Given the description of an element on the screen output the (x, y) to click on. 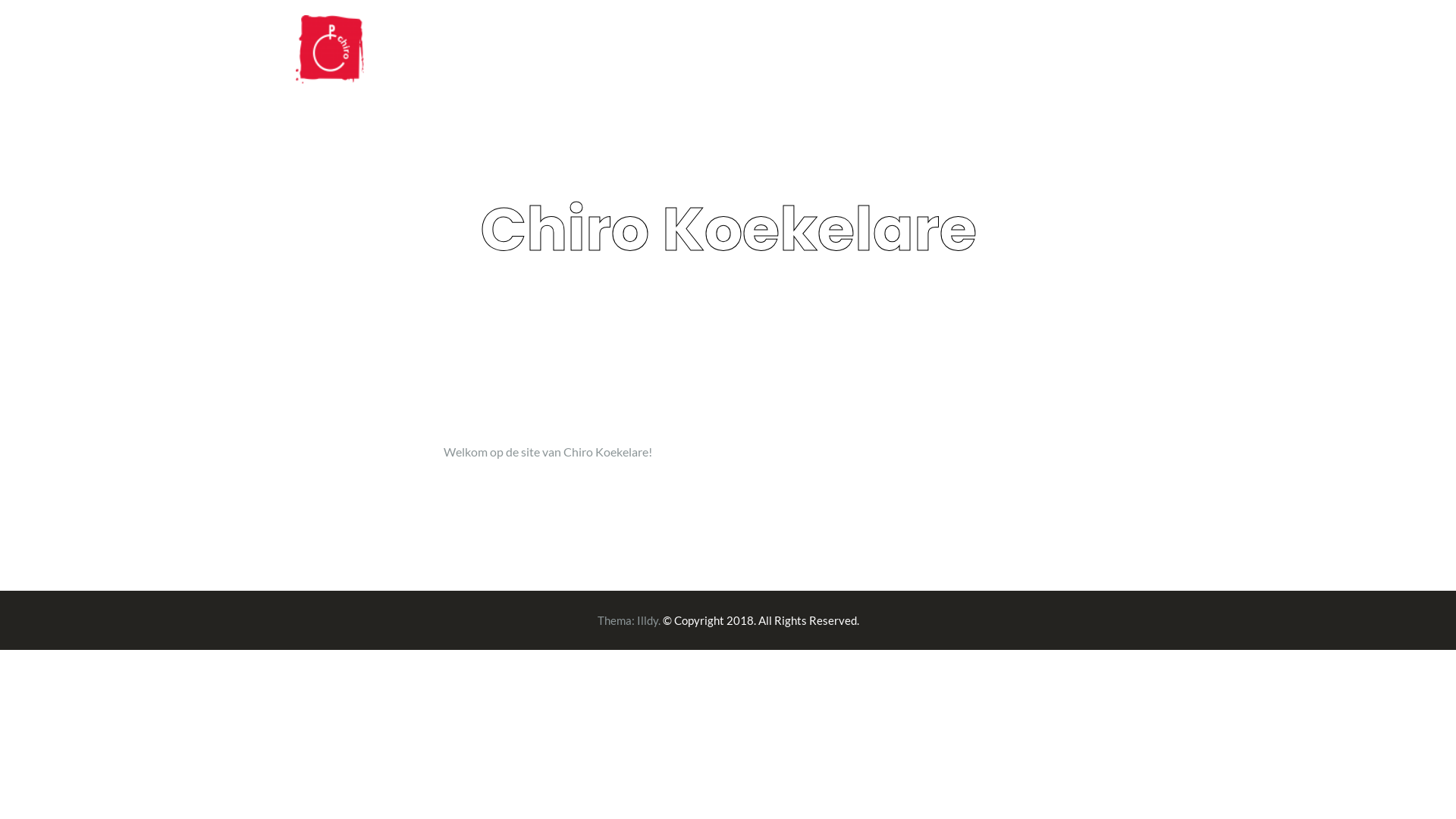
Fotogalerij Element type: text (1043, 50)
Illdy Element type: text (647, 620)
Info Element type: text (967, 51)
Chiro Koekelare Element type: hover (329, 47)
Verhuur Element type: text (1131, 51)
Leiding & contact Element type: text (786, 51)
Kalender Element type: text (894, 50)
